Given the description of an element on the screen output the (x, y) to click on. 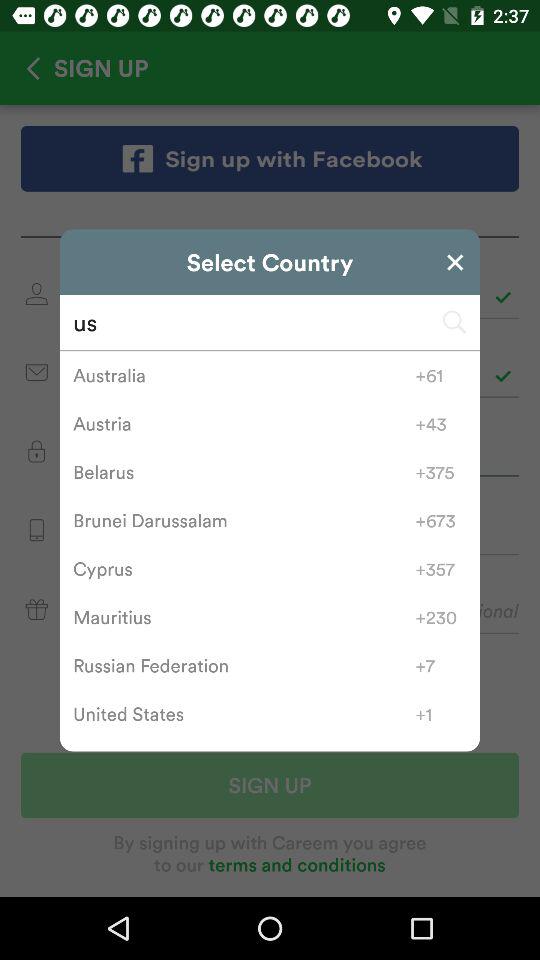
close window (455, 262)
